Given the description of an element on the screen output the (x, y) to click on. 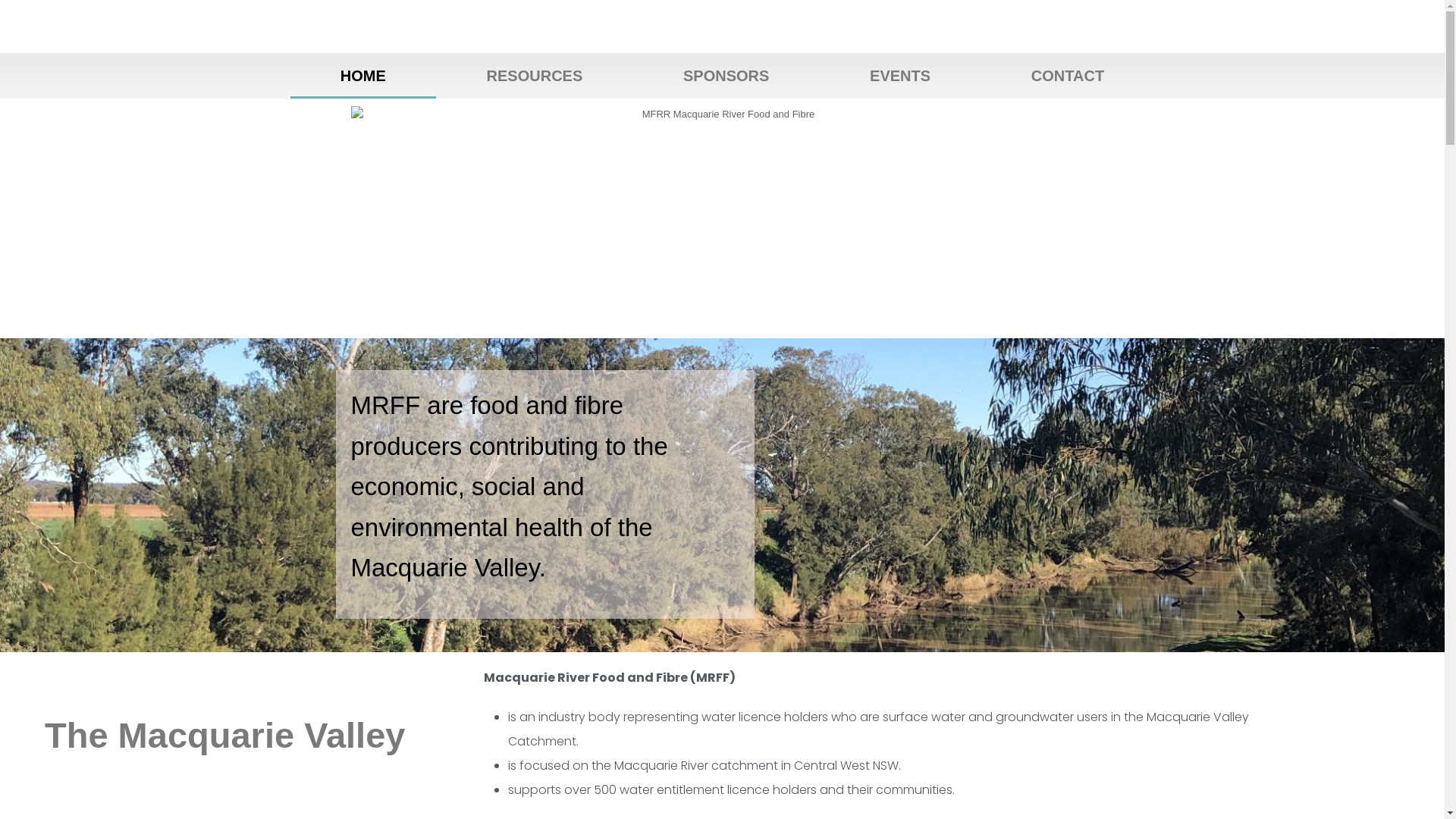
CONTACT Element type: text (1067, 75)
HOME Element type: text (362, 75)
EVENTS Element type: text (900, 75)
SPONSORS Element type: text (726, 75)
RESOURCES Element type: text (534, 75)
